Given the description of an element on the screen output the (x, y) to click on. 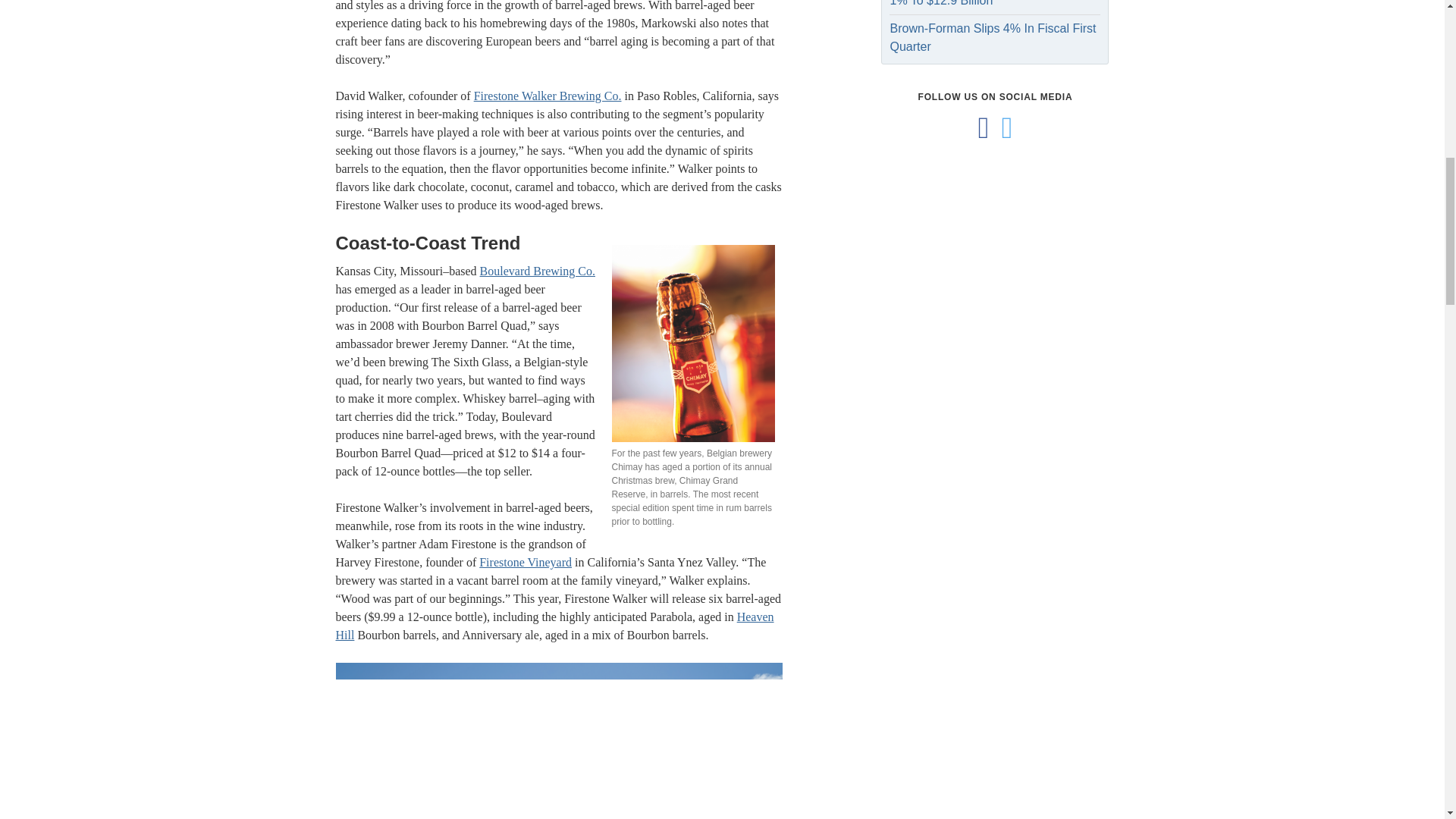
Firestone Vineyard (525, 562)
Heaven Hill (553, 625)
Boulevard Brewing Co. (537, 270)
Firestone Walker Brewing Co. (547, 95)
